Given the description of an element on the screen output the (x, y) to click on. 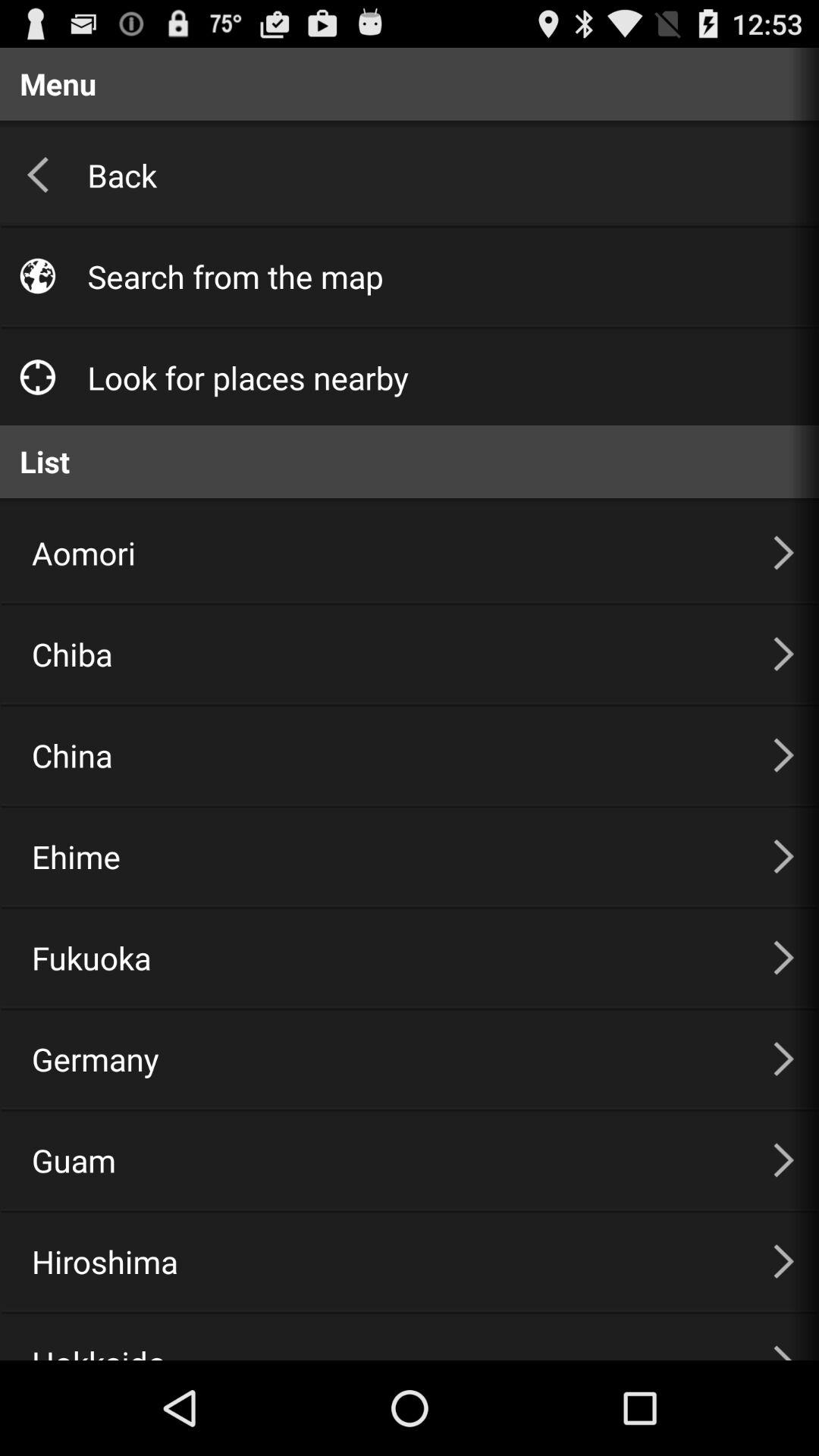
choose item below the fukuoka item (384, 1058)
